Given the description of an element on the screen output the (x, y) to click on. 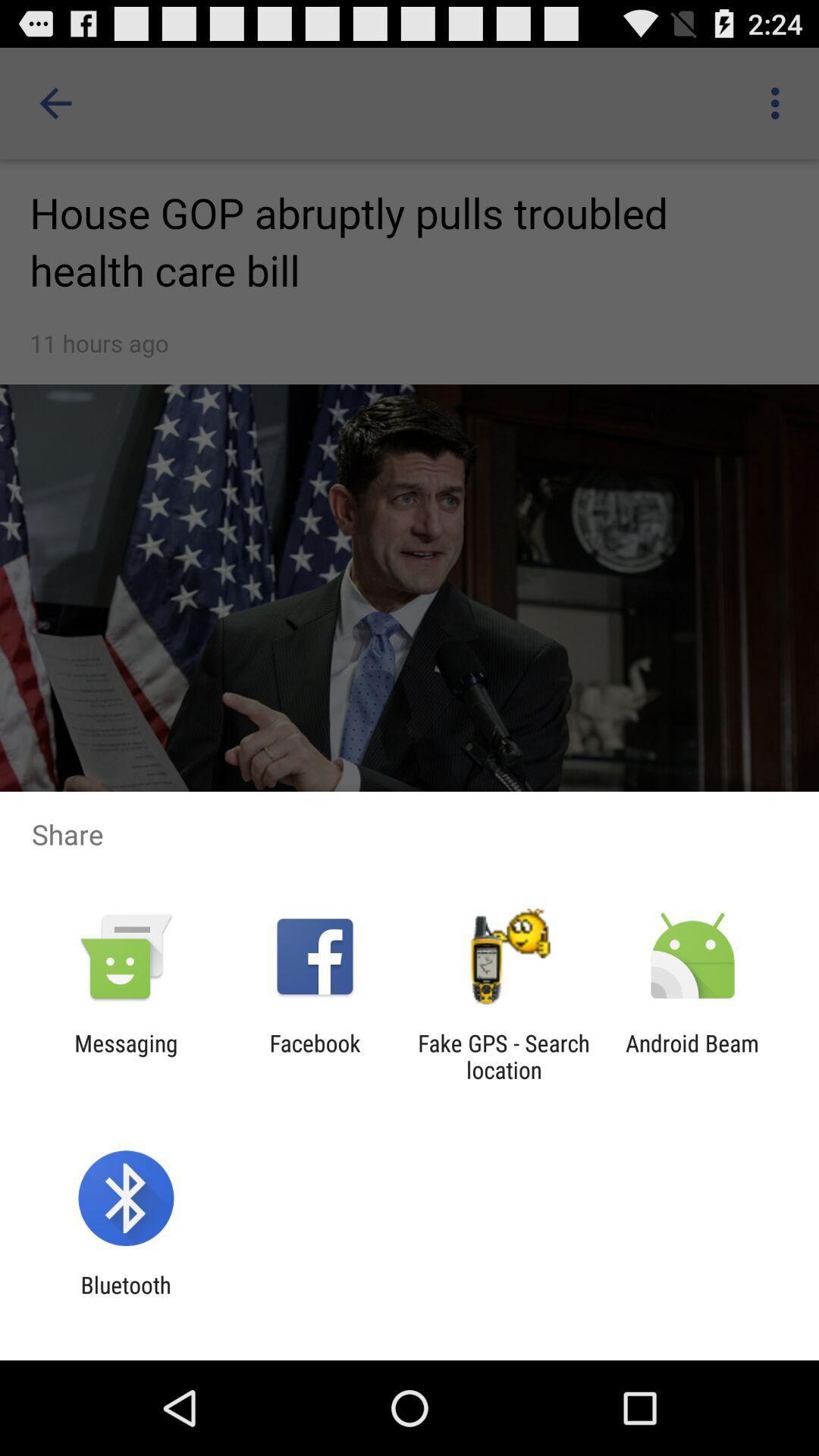
turn off the icon to the right of messaging item (314, 1056)
